Given the description of an element on the screen output the (x, y) to click on. 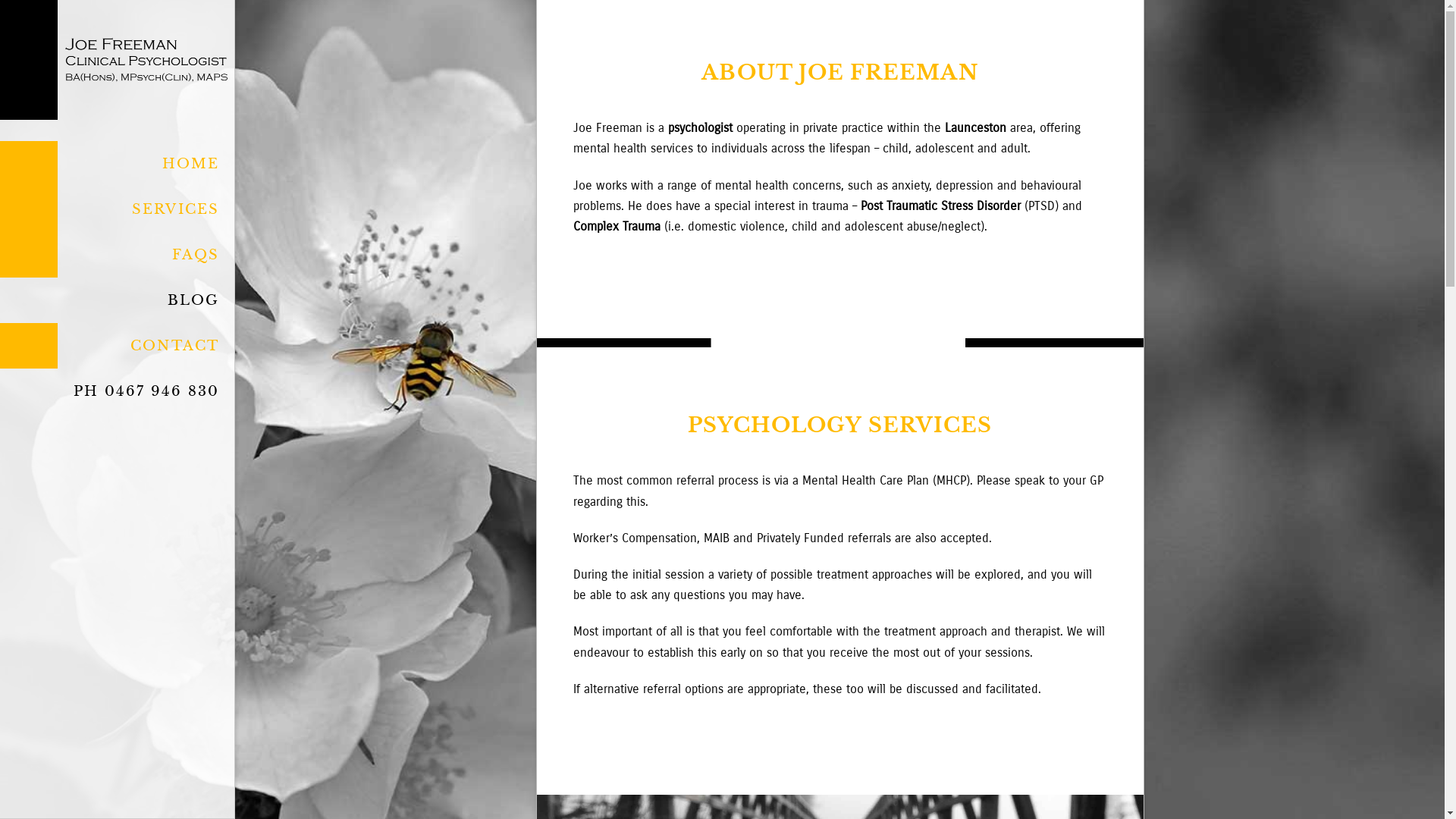
FAQS Element type: text (117, 254)
BLOG Element type: text (117, 300)
HOME Element type: text (117, 163)
CONTACT Element type: text (117, 345)
SERVICES Element type: text (117, 209)
PH 0467 946 830 Element type: text (117, 391)
